Given the description of an element on the screen output the (x, y) to click on. 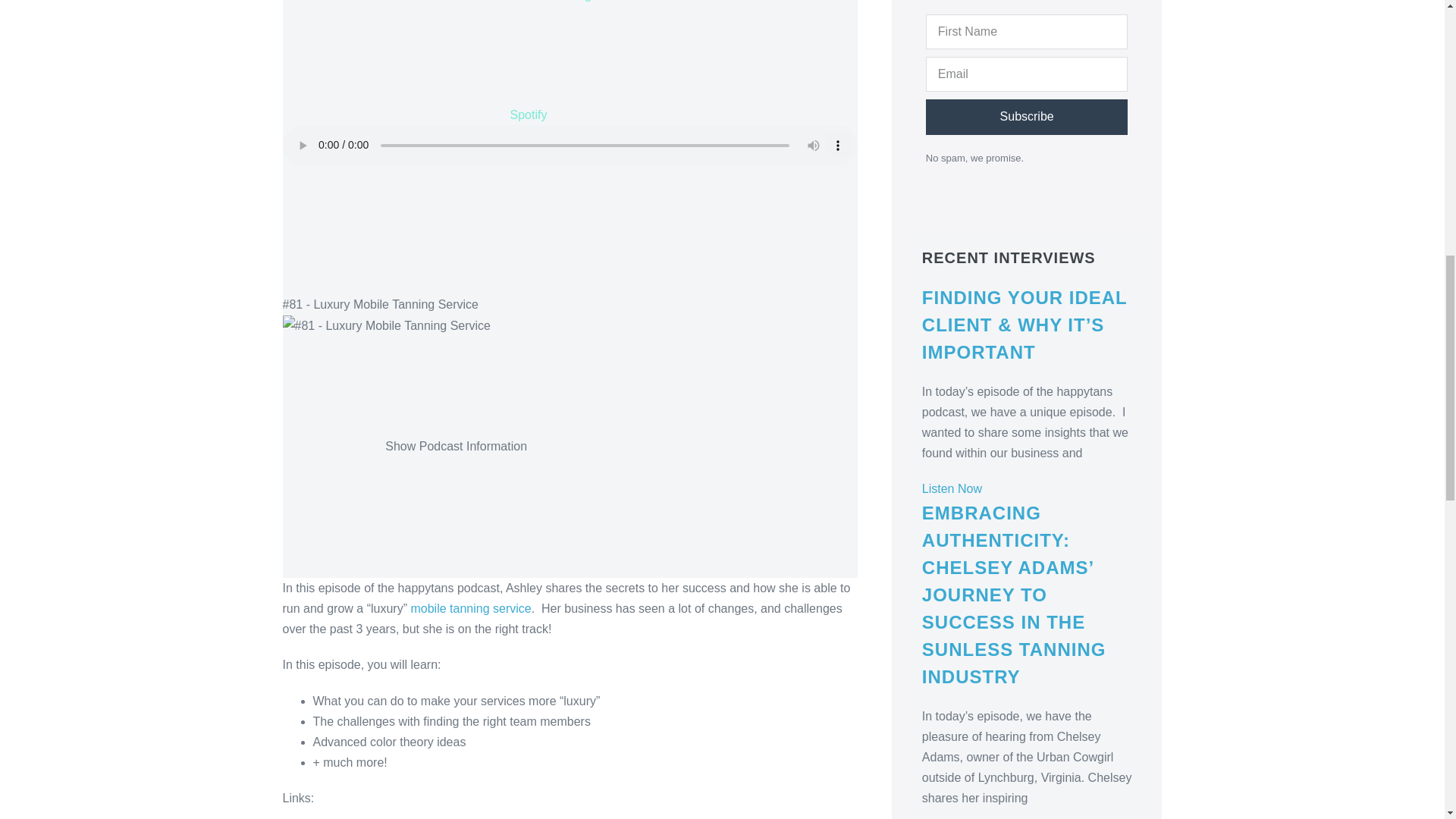
Listen OnSpotify (494, 60)
Subscribe (1027, 117)
mobile tanning service (470, 608)
Listen Now (951, 488)
